Given the description of an element on the screen output the (x, y) to click on. 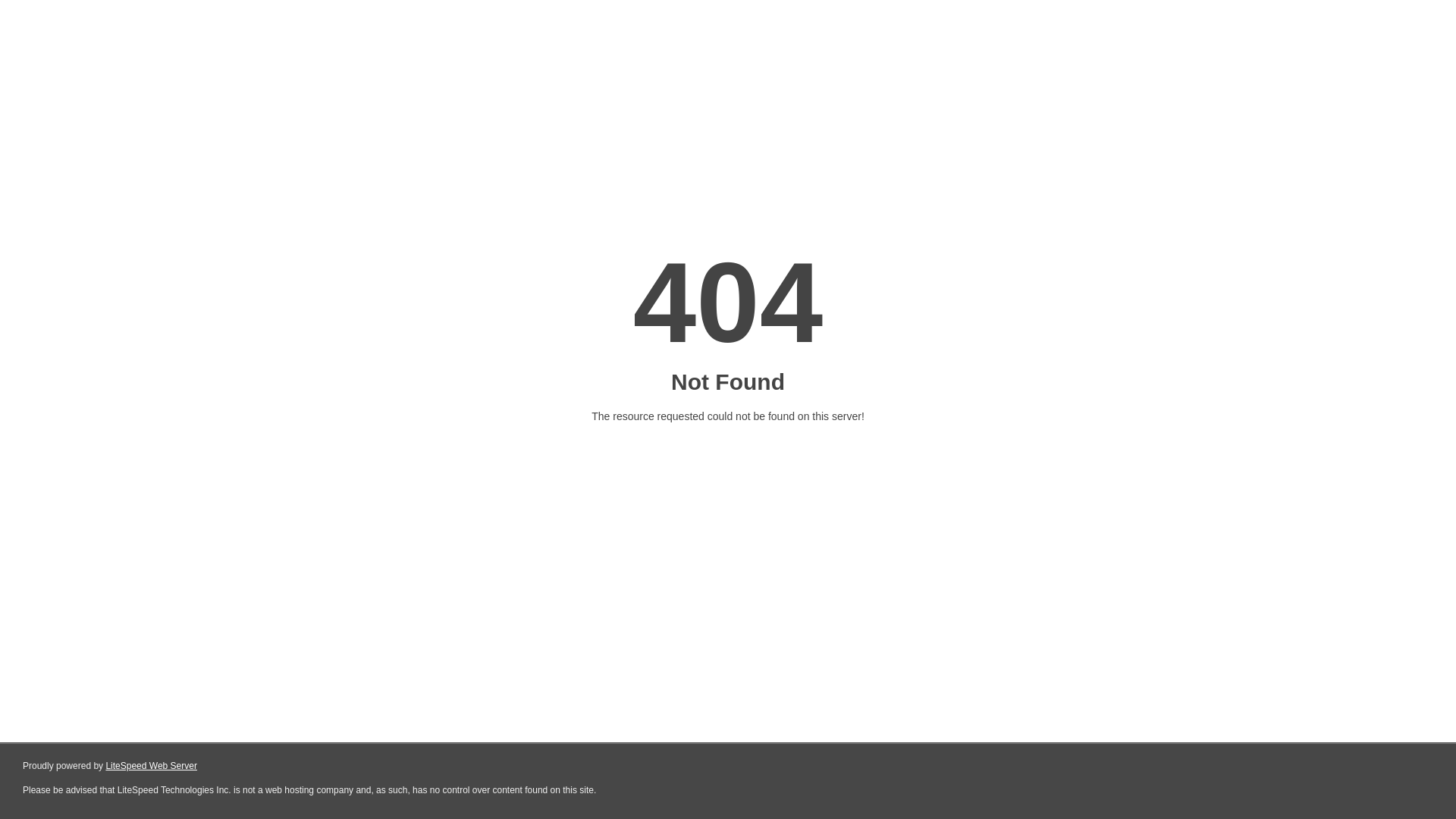
LiteSpeed Web Server Element type: text (151, 765)
